Given the description of an element on the screen output the (x, y) to click on. 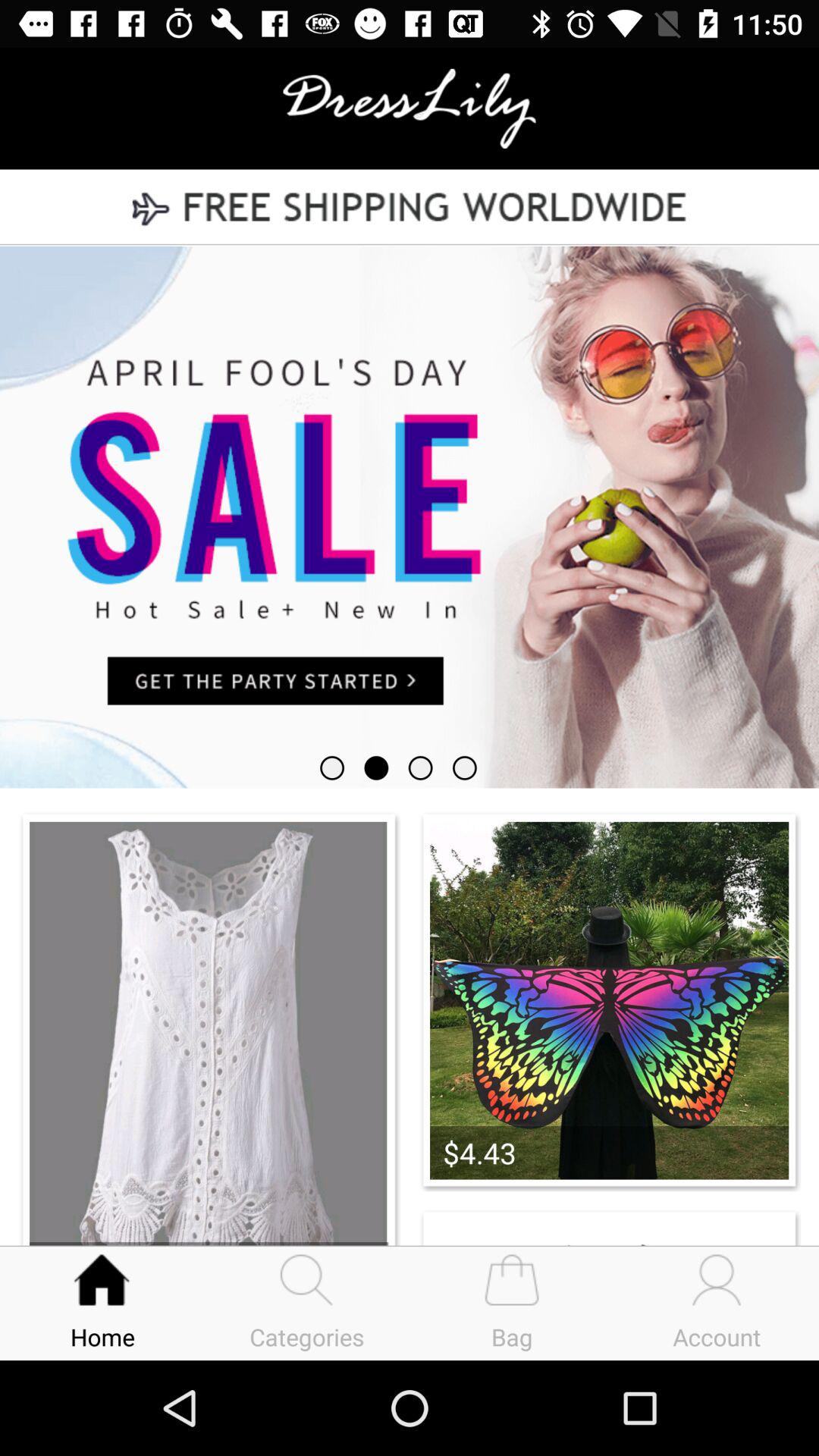
click on text next to categories (511, 1302)
